Given the description of an element on the screen output the (x, y) to click on. 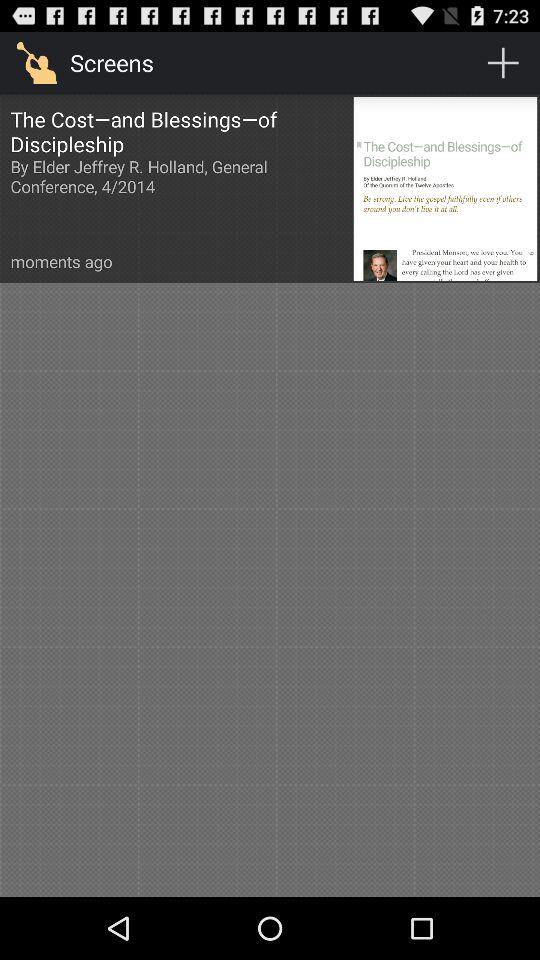
launch the moments ago (61, 261)
